Given the description of an element on the screen output the (x, y) to click on. 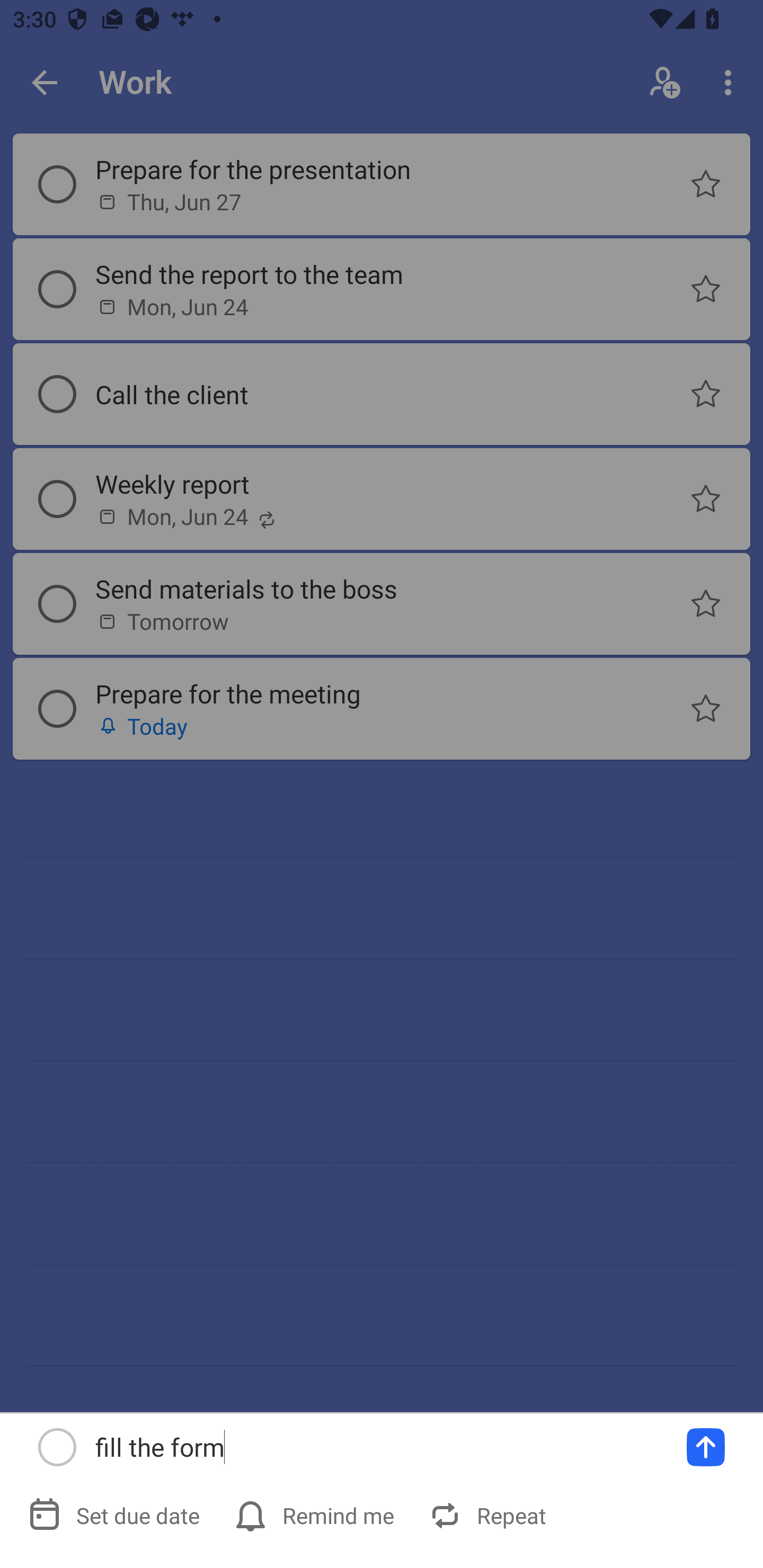
Remind me (315, 1515)
